Given the description of an element on the screen output the (x, y) to click on. 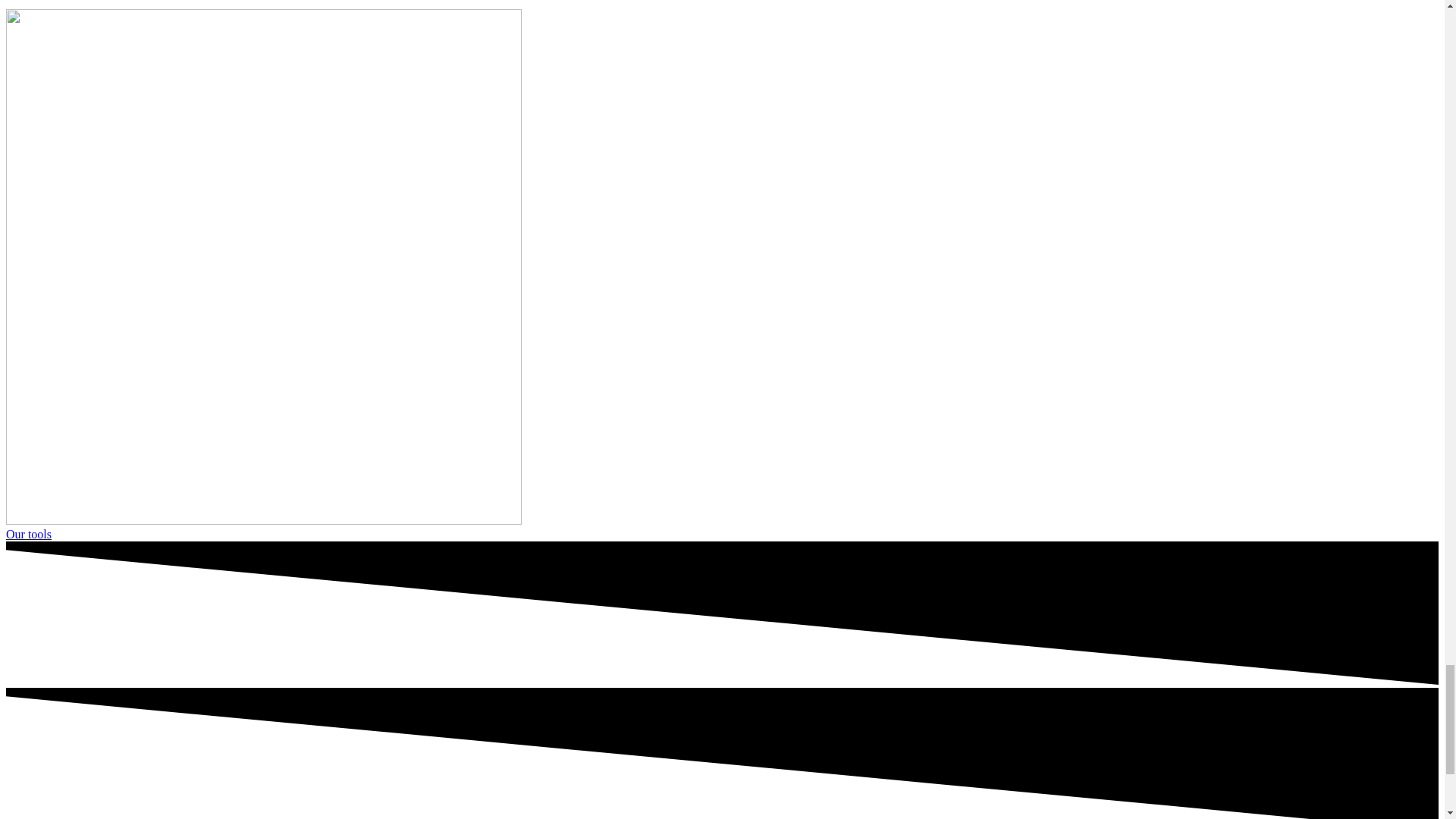
Our tools (27, 533)
